Given the description of an element on the screen output the (x, y) to click on. 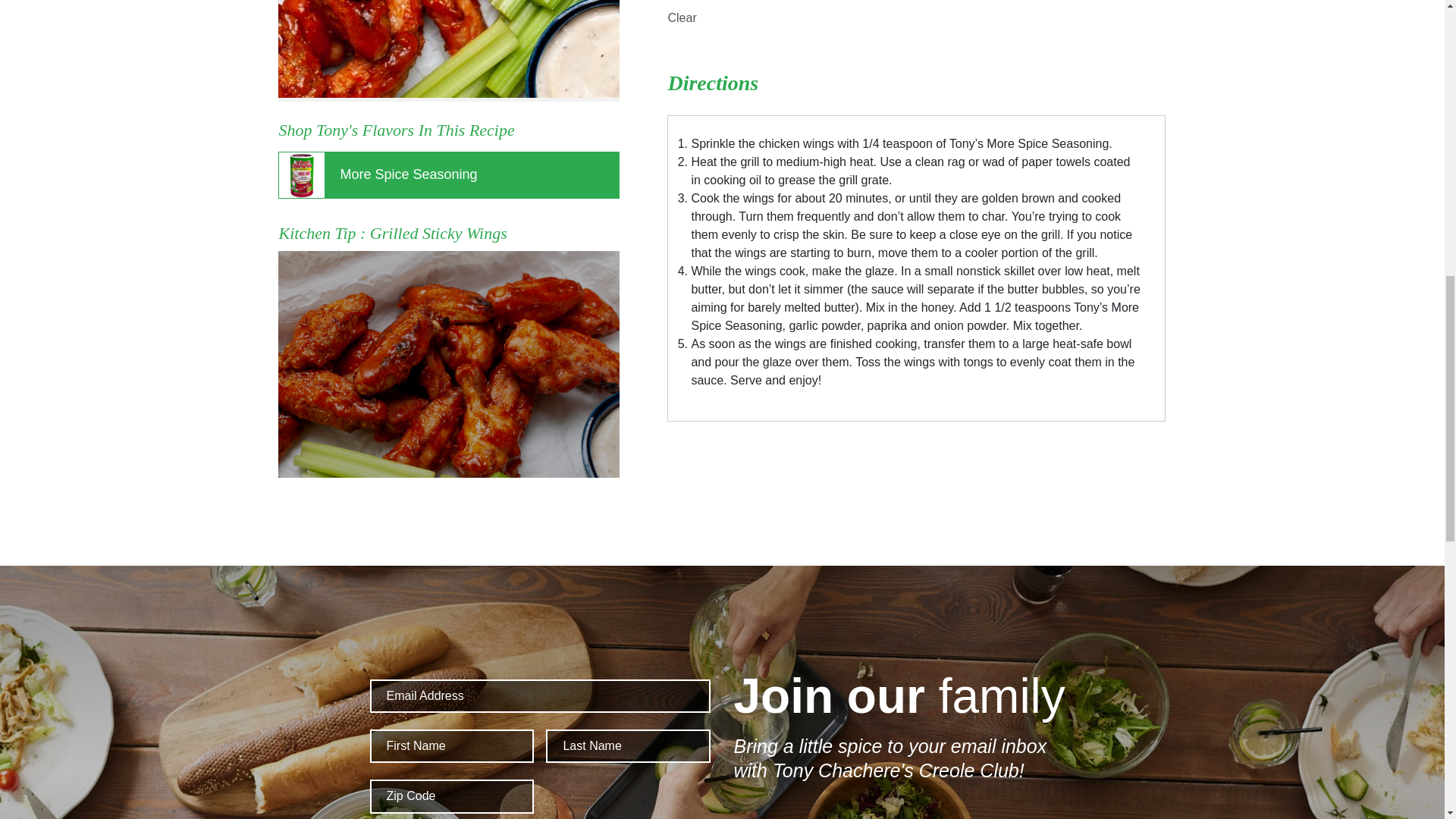
More Spice Seasoning (449, 175)
Clear (680, 18)
